Given the description of an element on the screen output the (x, y) to click on. 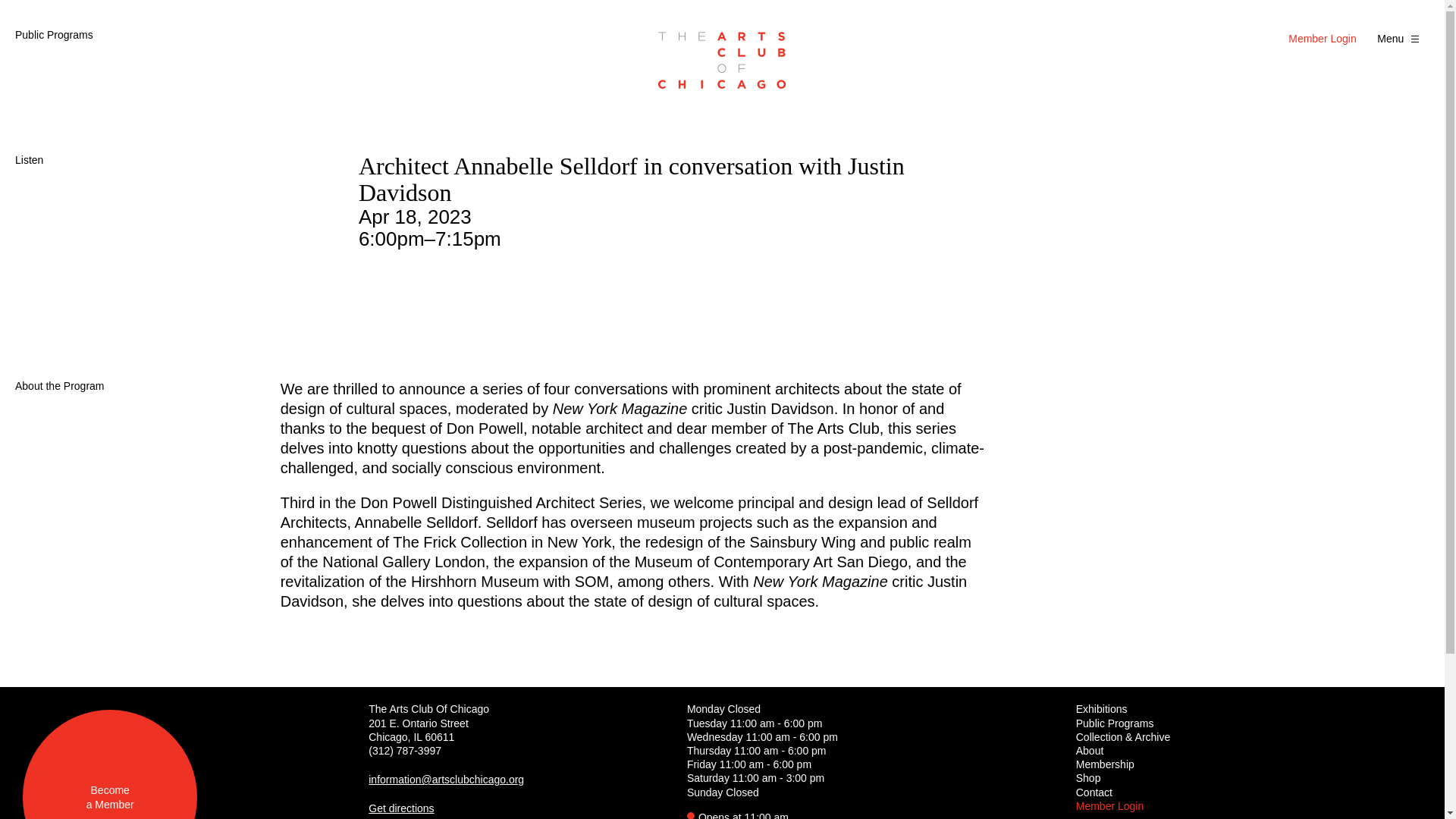
Public Programs (53, 34)
Exhibitions (109, 764)
Menu (1100, 708)
Skip to content (1399, 38)
Public Programs (18, 33)
Membership (1114, 723)
About (1104, 764)
Contact (1089, 750)
